Given the description of an element on the screen output the (x, y) to click on. 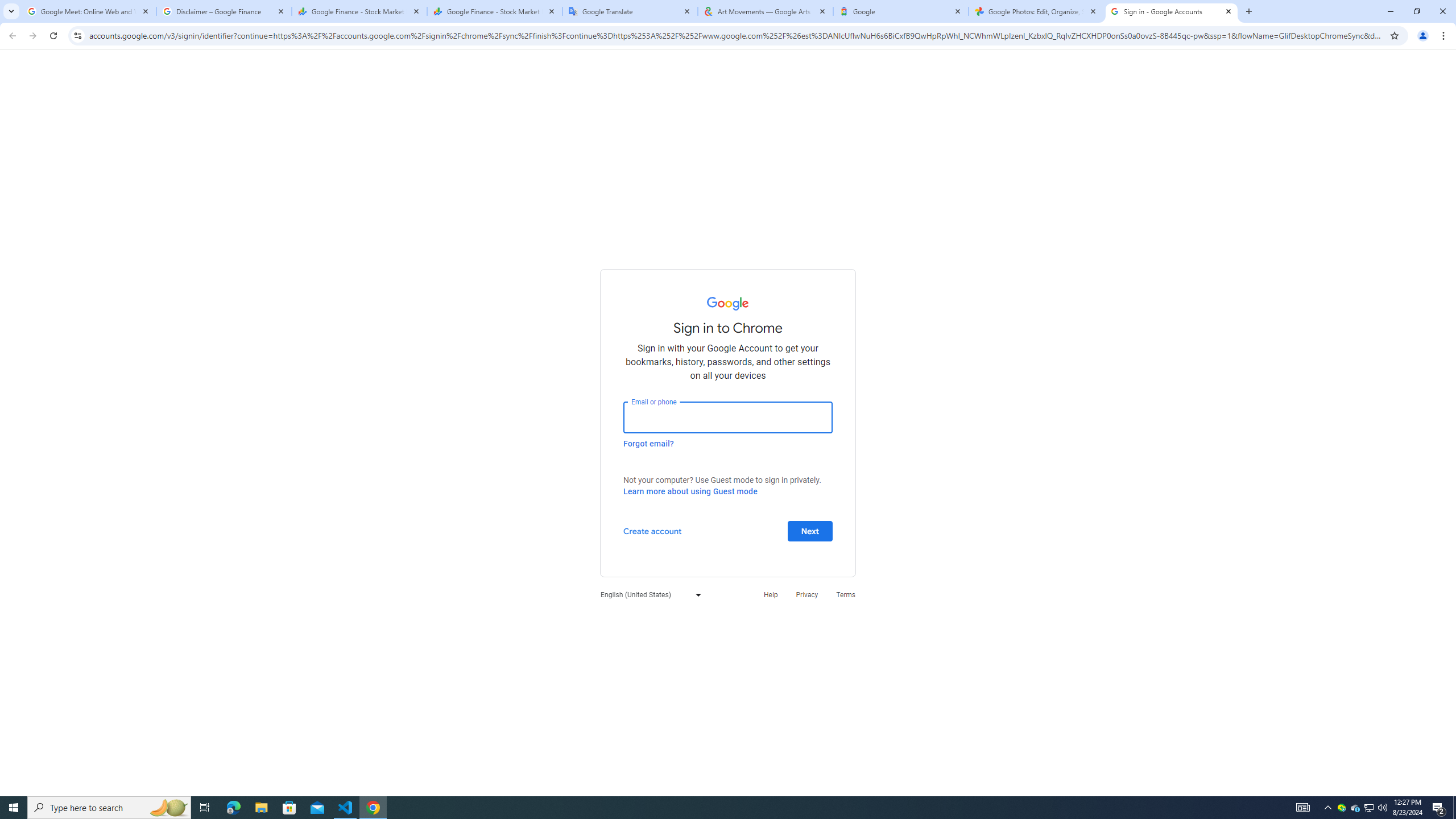
Learn more about using Guest mode (689, 491)
Sign in - Google Accounts (1171, 11)
Forgot email? (648, 443)
English (United States) (647, 594)
Email or phone (727, 417)
